Given the description of an element on the screen output the (x, y) to click on. 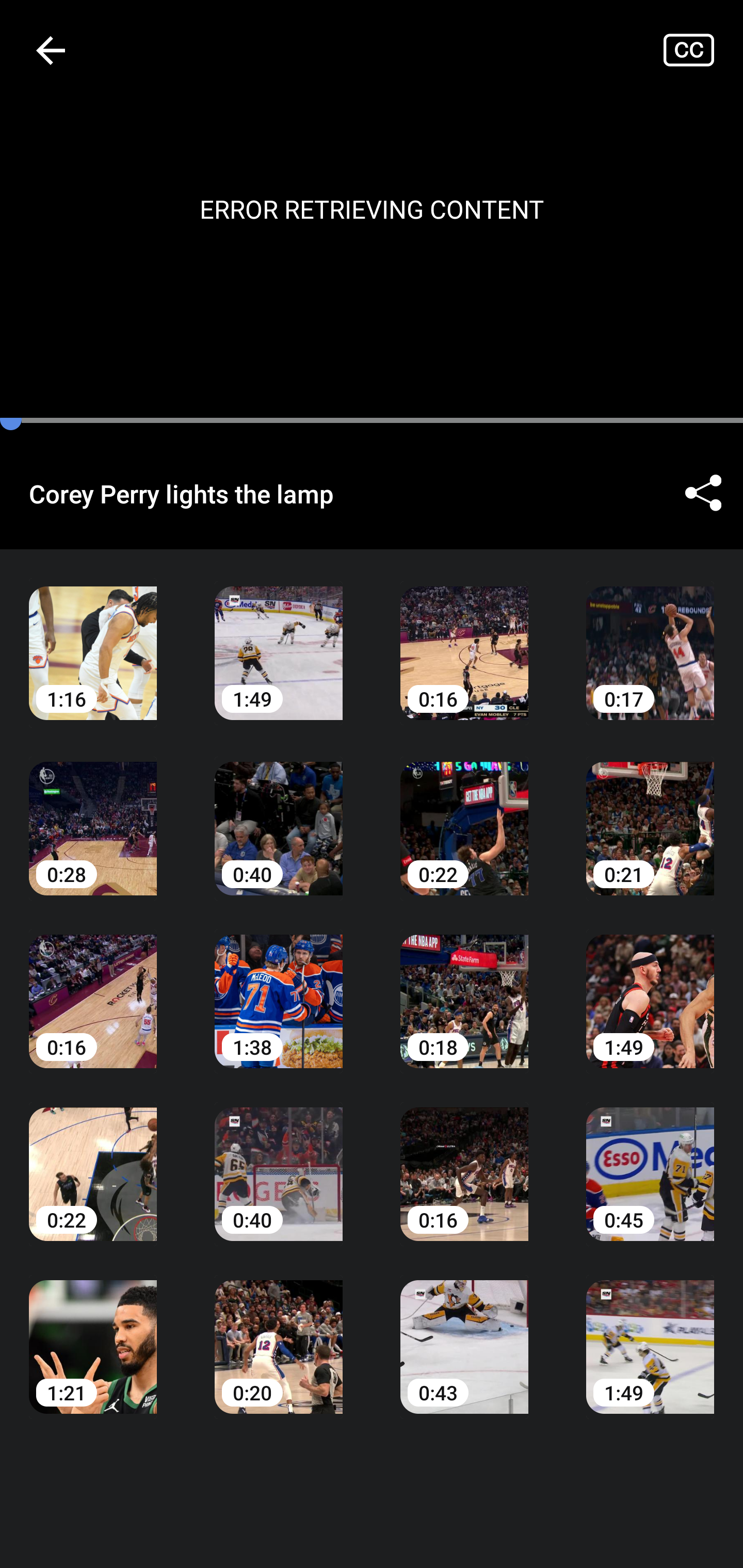
Navigate up (50, 50)
Closed captions  (703, 49)
Share © (703, 493)
1:16 (92, 637)
1:49 (278, 637)
0:16 (464, 637)
0:17 (650, 637)
0:28 (92, 813)
0:40 (278, 813)
0:22 (464, 813)
0:21 (650, 813)
0:16 (92, 987)
1:38 (278, 987)
0:18 (464, 987)
1:49 (650, 987)
0:22 (92, 1160)
0:40 (278, 1160)
0:16 (464, 1160)
0:45 (650, 1160)
1:21 (92, 1332)
0:20 (278, 1332)
0:43 (464, 1332)
1:49 (650, 1332)
